Given the description of an element on the screen output the (x, y) to click on. 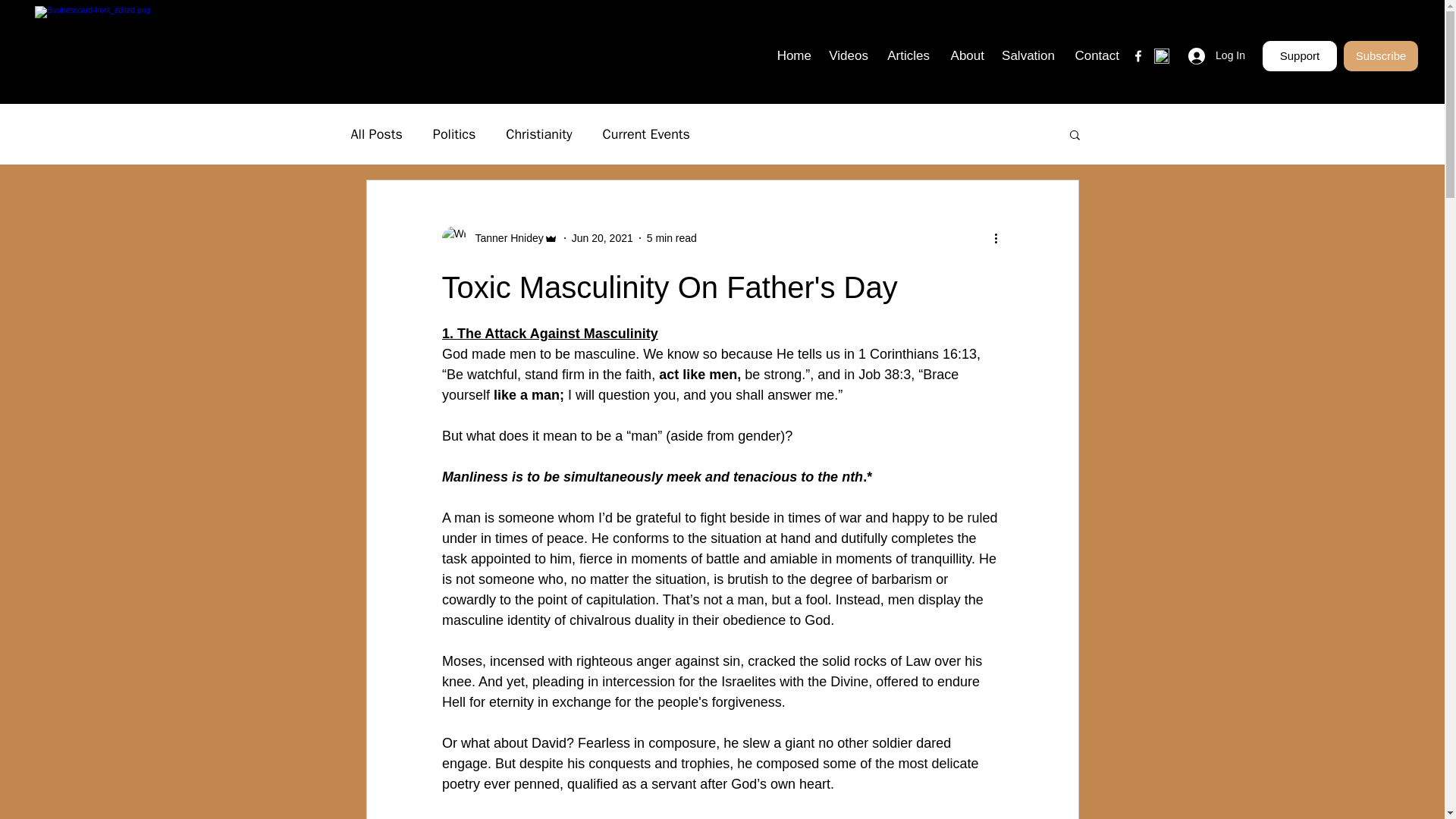
Home (791, 55)
Contact (1094, 55)
Log In (1216, 55)
Tanner Hnidey (504, 238)
Jun 20, 2021 (602, 237)
5 min read (671, 237)
Articles (906, 55)
Subscribe (1380, 55)
Salvation (1026, 55)
Support (1299, 55)
